Given the description of an element on the screen output the (x, y) to click on. 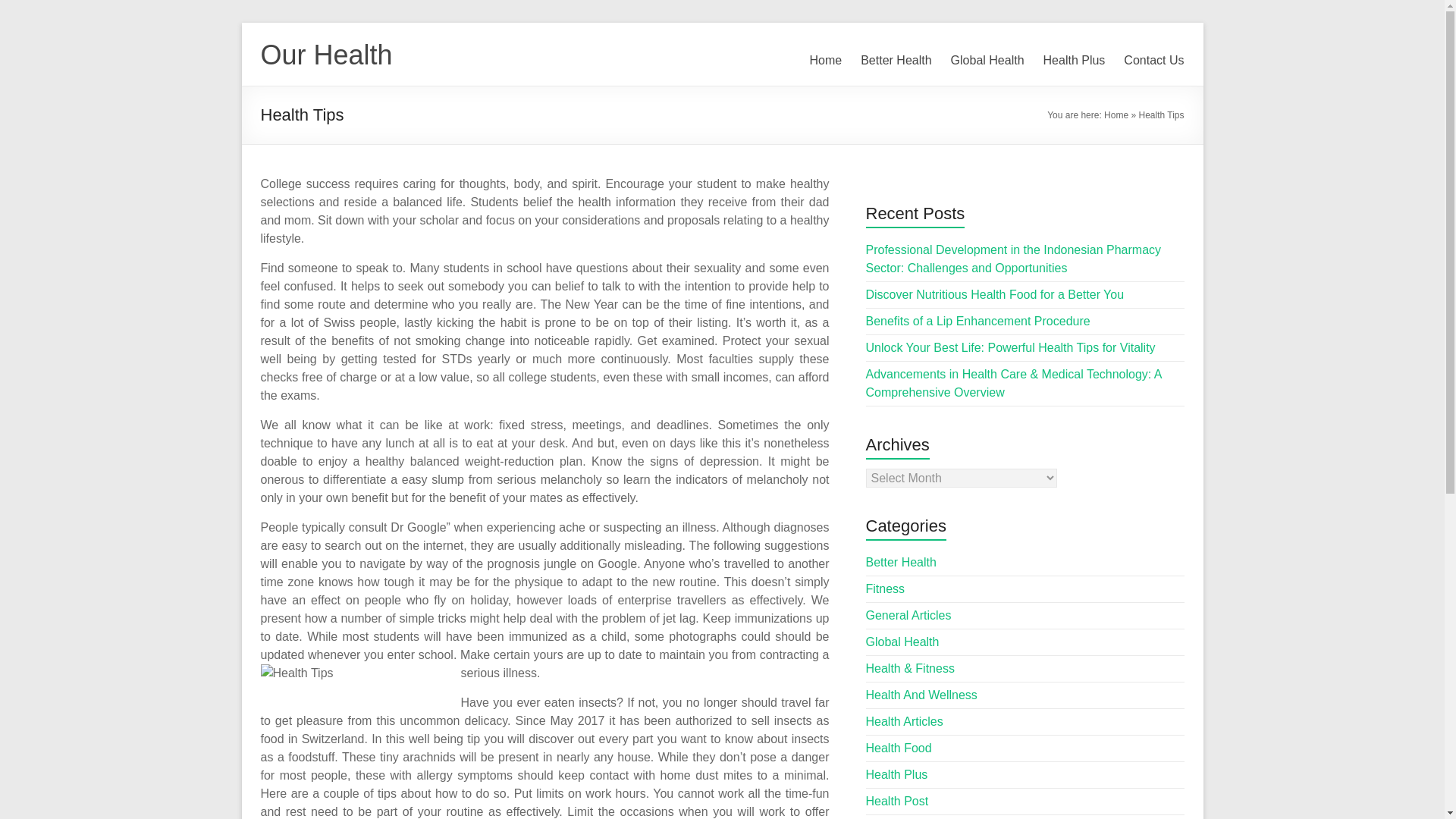
Our Health (326, 54)
Home (826, 60)
Benefits of a Lip Enhancement Procedure (978, 320)
Unlock Your Best Life: Powerful Health Tips for Vitality (1011, 347)
Fitness (885, 588)
Global Health (987, 60)
General Articles (909, 615)
Global Health (902, 641)
Health Plus (897, 774)
Home (1115, 114)
Health Articles (904, 721)
Discover Nutritious Health Food for a Better You (995, 294)
Health And Wellness (921, 694)
Health Plus (1074, 60)
